Given the description of an element on the screen output the (x, y) to click on. 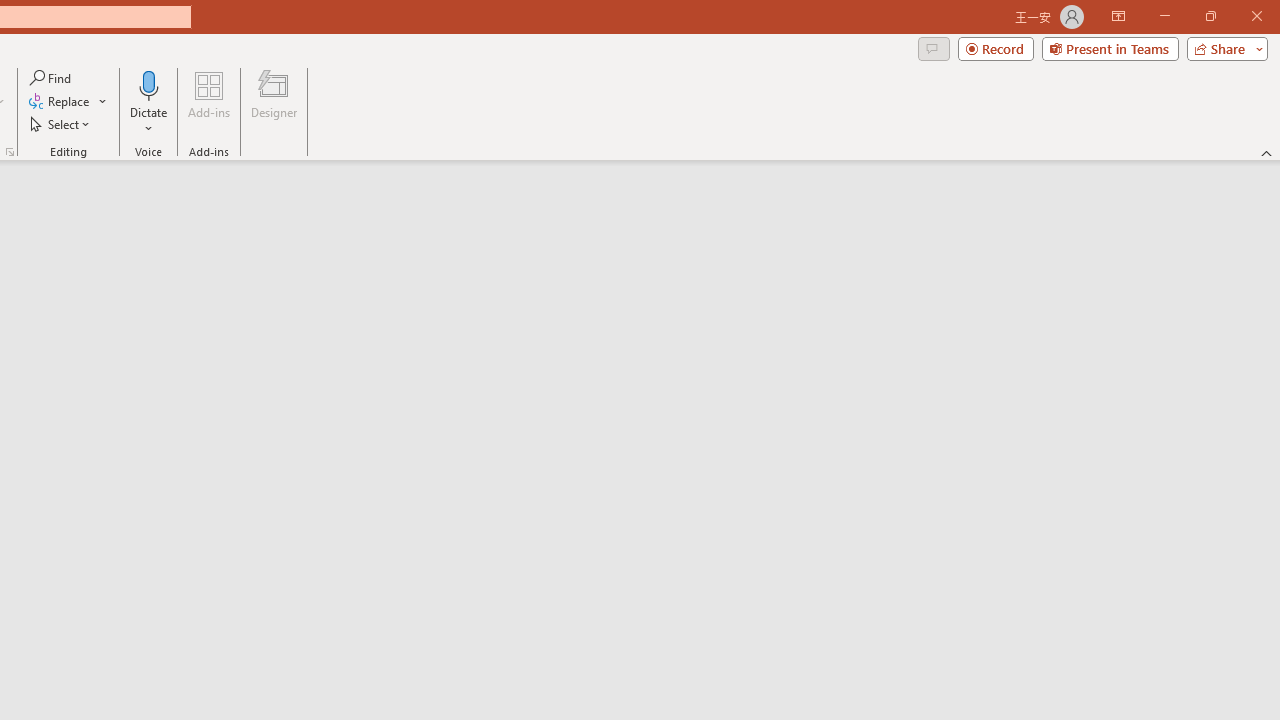
Select (61, 124)
